Given the description of an element on the screen output the (x, y) to click on. 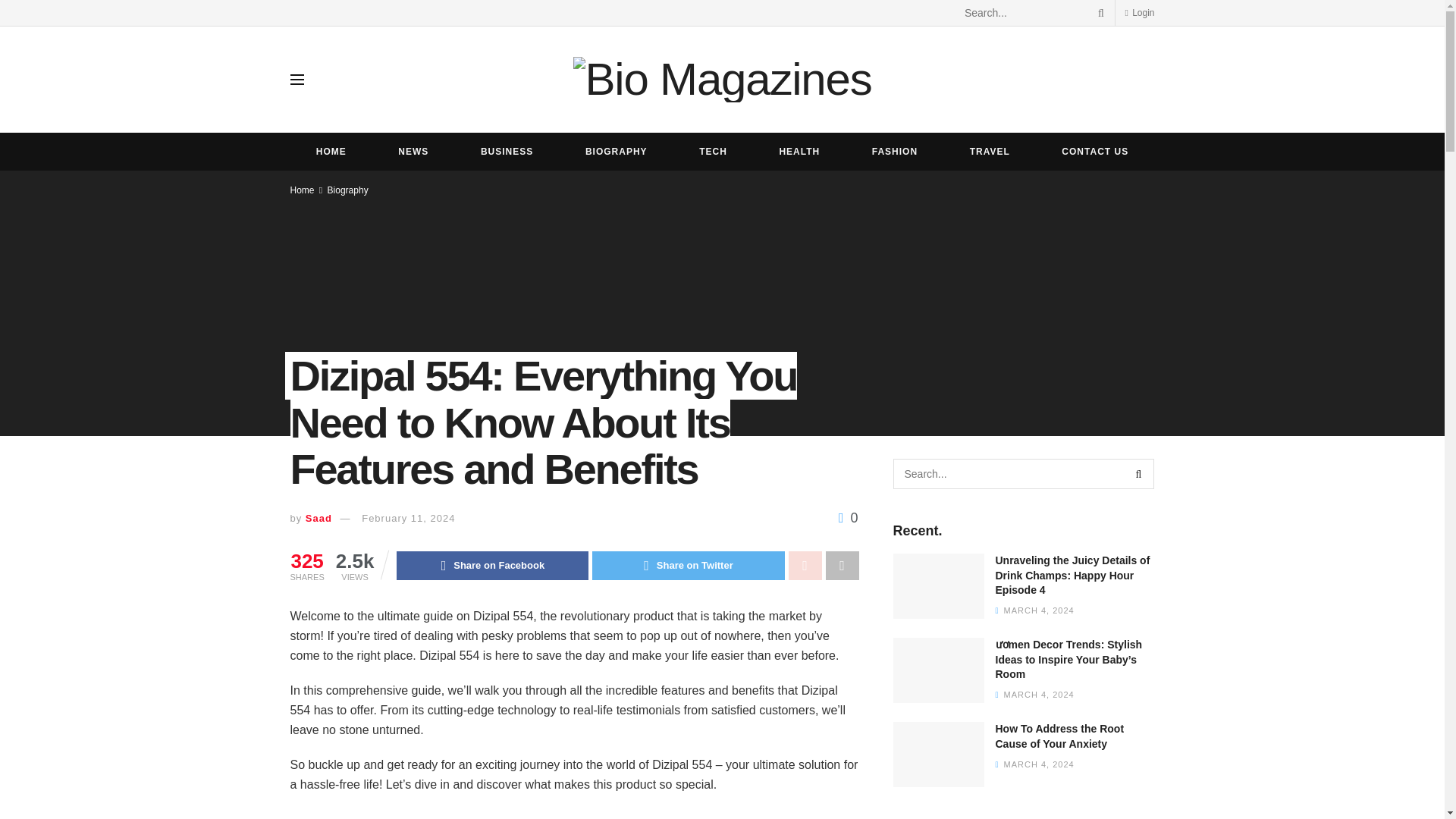
HEALTH (798, 151)
Login (1139, 12)
BIOGRAPHY (615, 151)
HOME (330, 151)
CONTACT US (1094, 151)
TECH (712, 151)
BUSINESS (506, 151)
FASHION (894, 151)
TRAVEL (989, 151)
NEWS (413, 151)
